Given the description of an element on the screen output the (x, y) to click on. 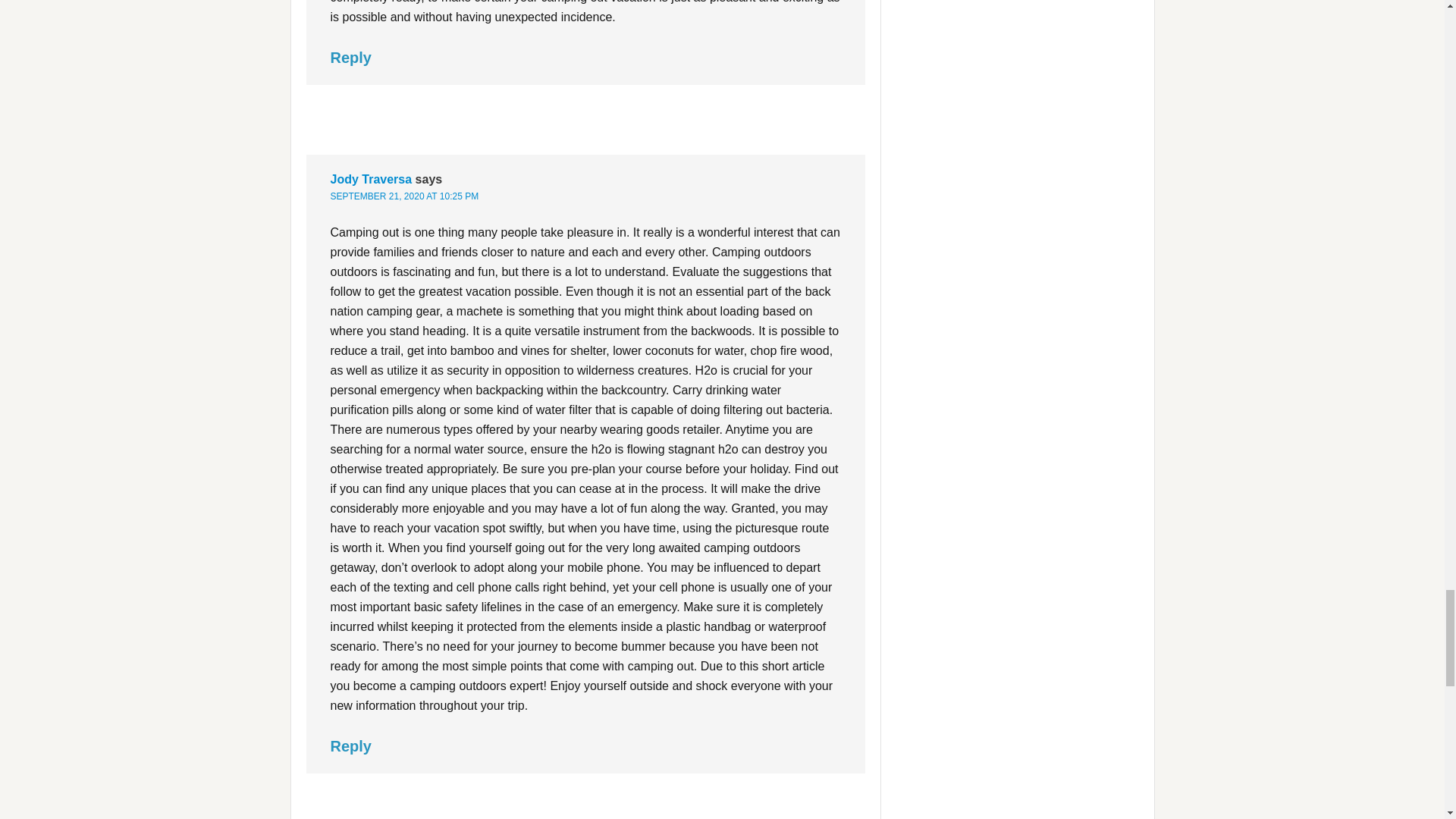
SEPTEMBER 21, 2020 AT 10:25 PM (404, 195)
Jody Traversa (371, 178)
Reply (350, 745)
Reply (350, 57)
